Given the description of an element on the screen output the (x, y) to click on. 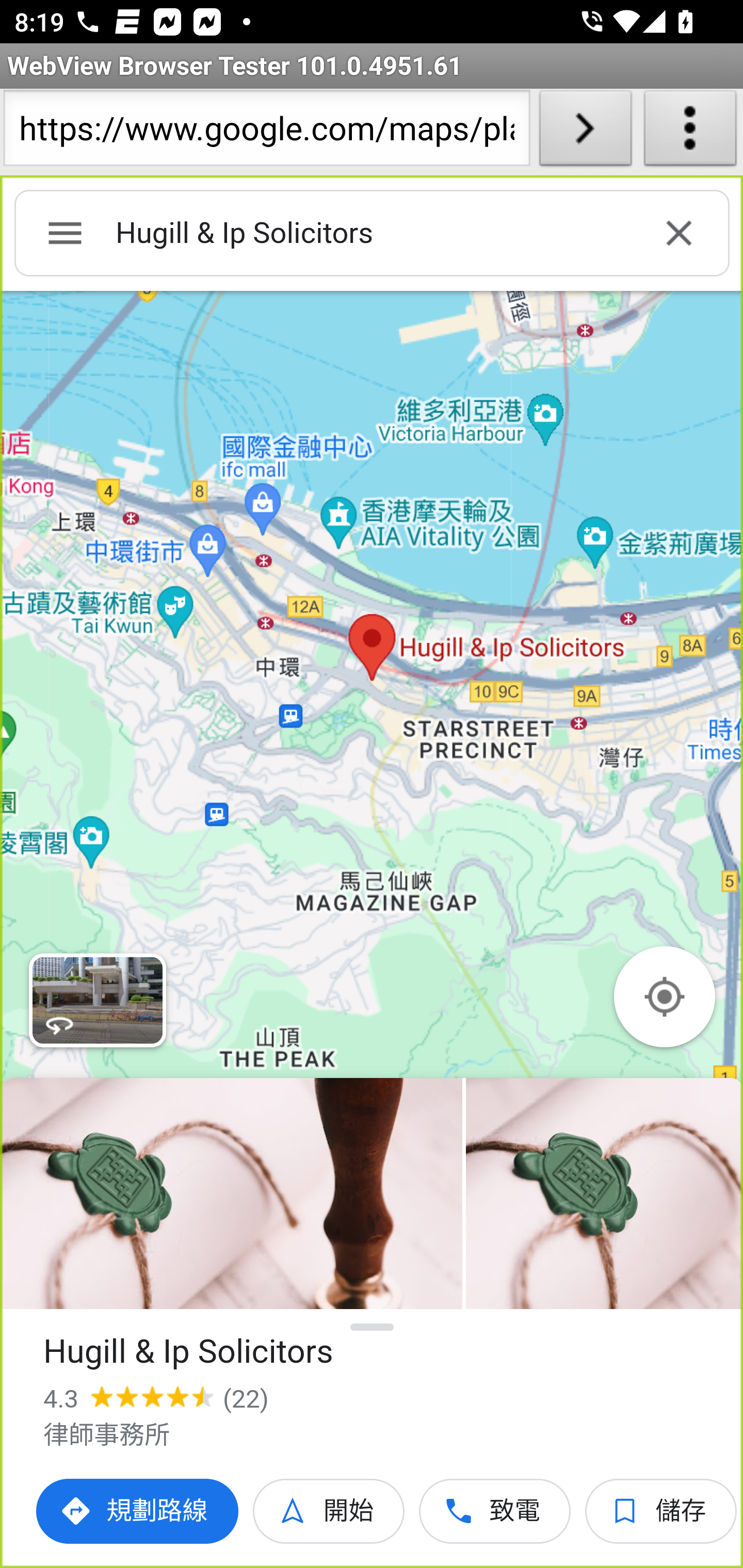
Load URL (585, 132)
About WebView (690, 132)
第 1 張相片 (共 10 張) (231, 1193)
第 2 張相片 (共 10 張) (604, 1193)
顯示詳細資料 (372, 1327)
前往Hugill & Ip Solicitors的路線 (137, 1511)
開始 (329, 1511)
致電「Hugill & Ip Solicitors」  致電 (495, 1511)
將「Hugill & Ip Solicitors」儲存至清單中 (661, 1511)
